Given the description of an element on the screen output the (x, y) to click on. 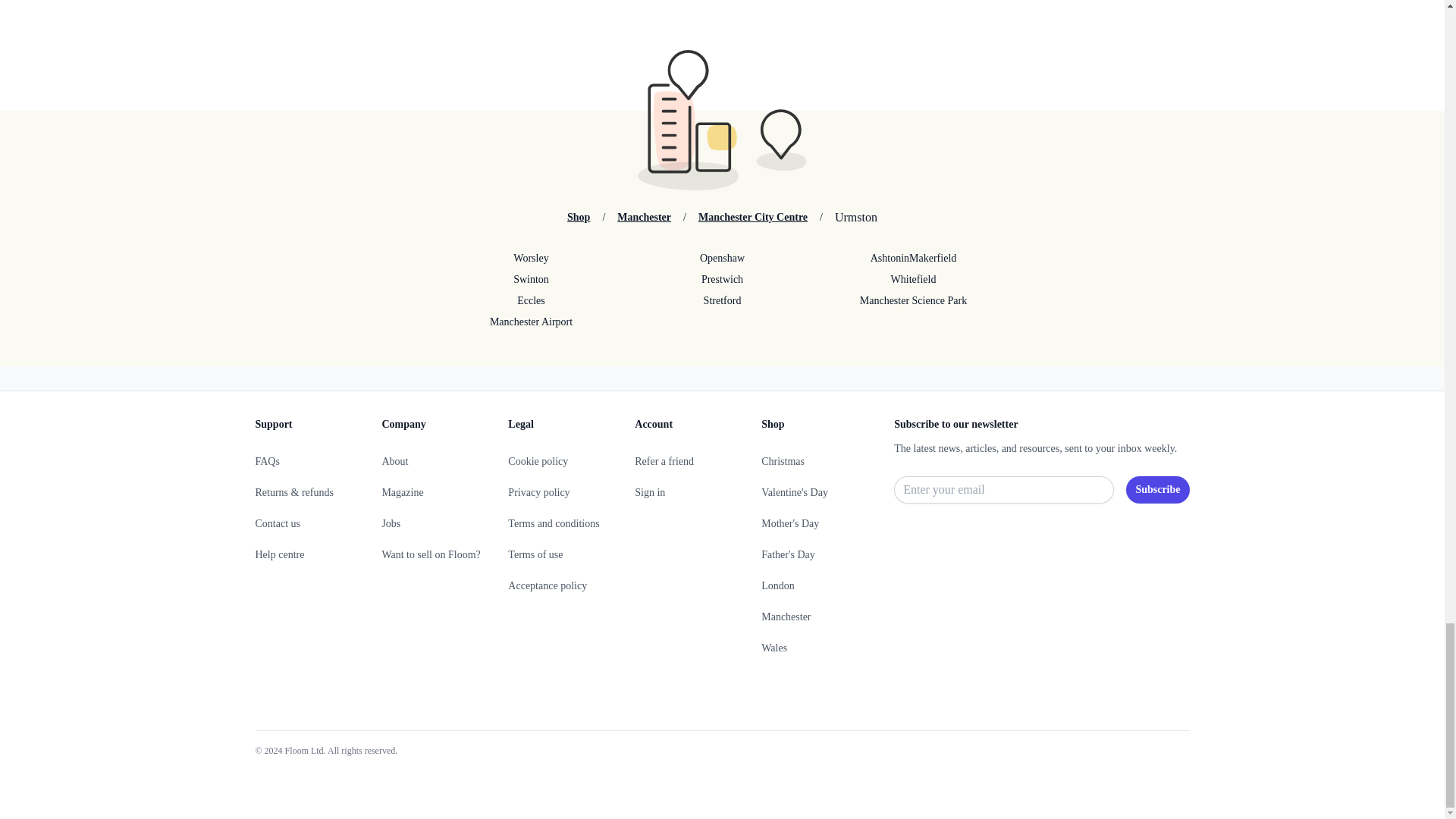
Eccles (530, 300)
AshtoninMakerfield (913, 258)
Help centre (279, 554)
Shop (578, 217)
Magazine (402, 491)
Stretford (721, 300)
Contact us (276, 523)
Manchester Airport (530, 322)
Manchester Science Park (913, 300)
Swinton (530, 279)
Worsley (530, 258)
Manchester City Centre (753, 217)
FAQs (266, 460)
Whitefield (913, 279)
About (394, 460)
